Given the description of an element on the screen output the (x, y) to click on. 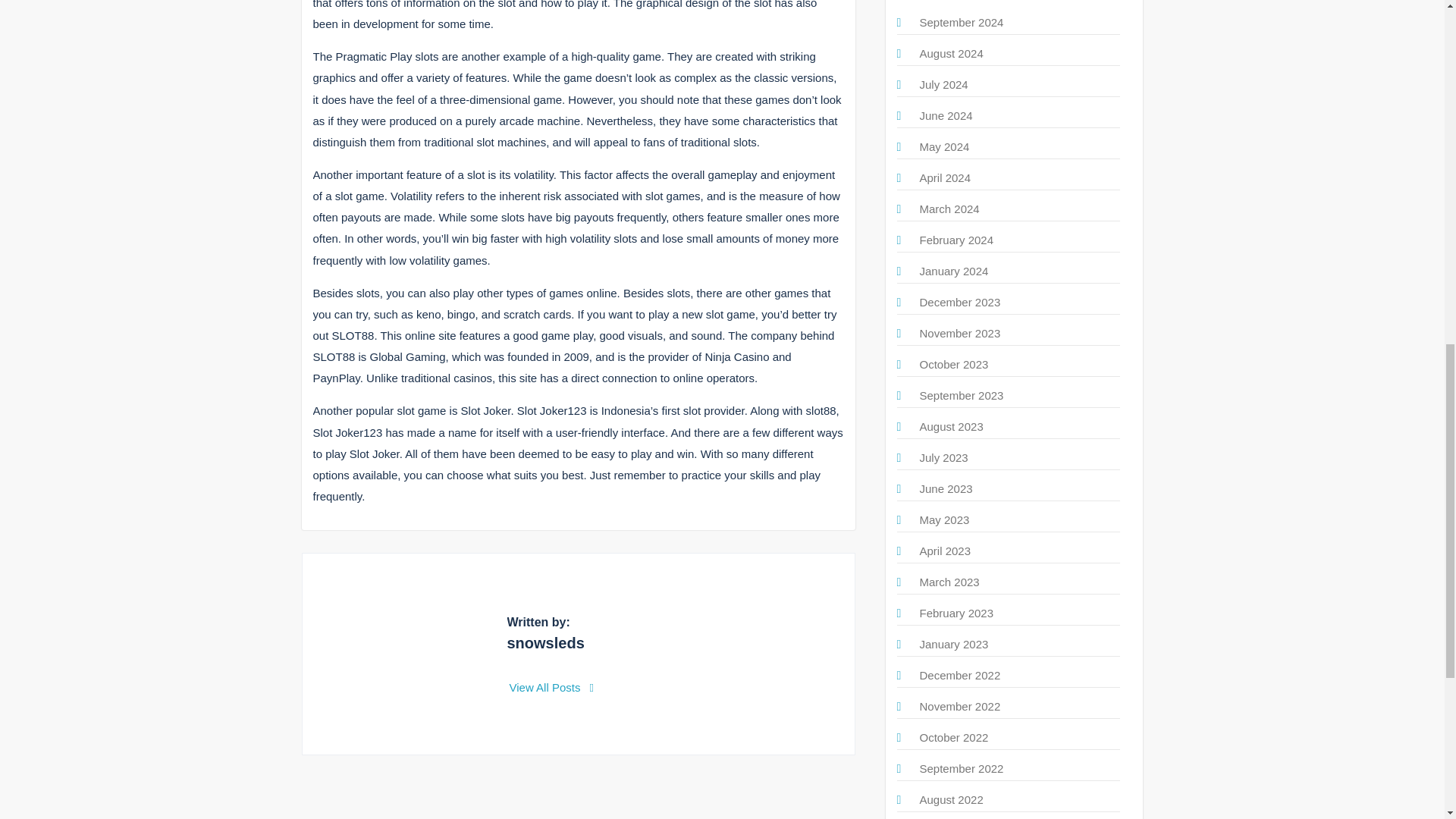
March 2024 (948, 208)
September 2024 (960, 21)
View All Posts (551, 686)
February 2024 (955, 239)
September 2022 (960, 768)
August 2022 (950, 799)
May 2023 (943, 519)
October 2022 (953, 737)
August 2023 (950, 426)
July 2024 (943, 83)
